Given the description of an element on the screen output the (x, y) to click on. 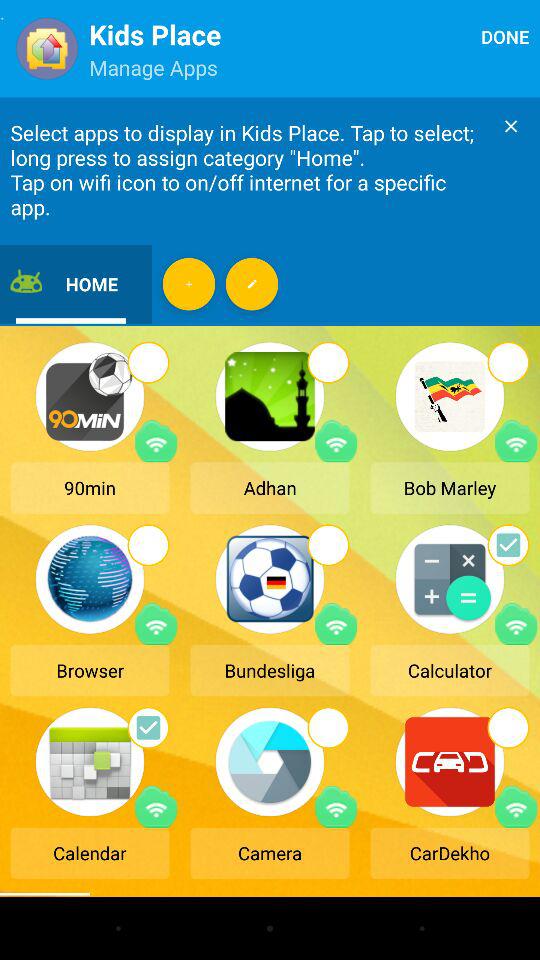
turn wifi on/off for app (516, 624)
